Given the description of an element on the screen output the (x, y) to click on. 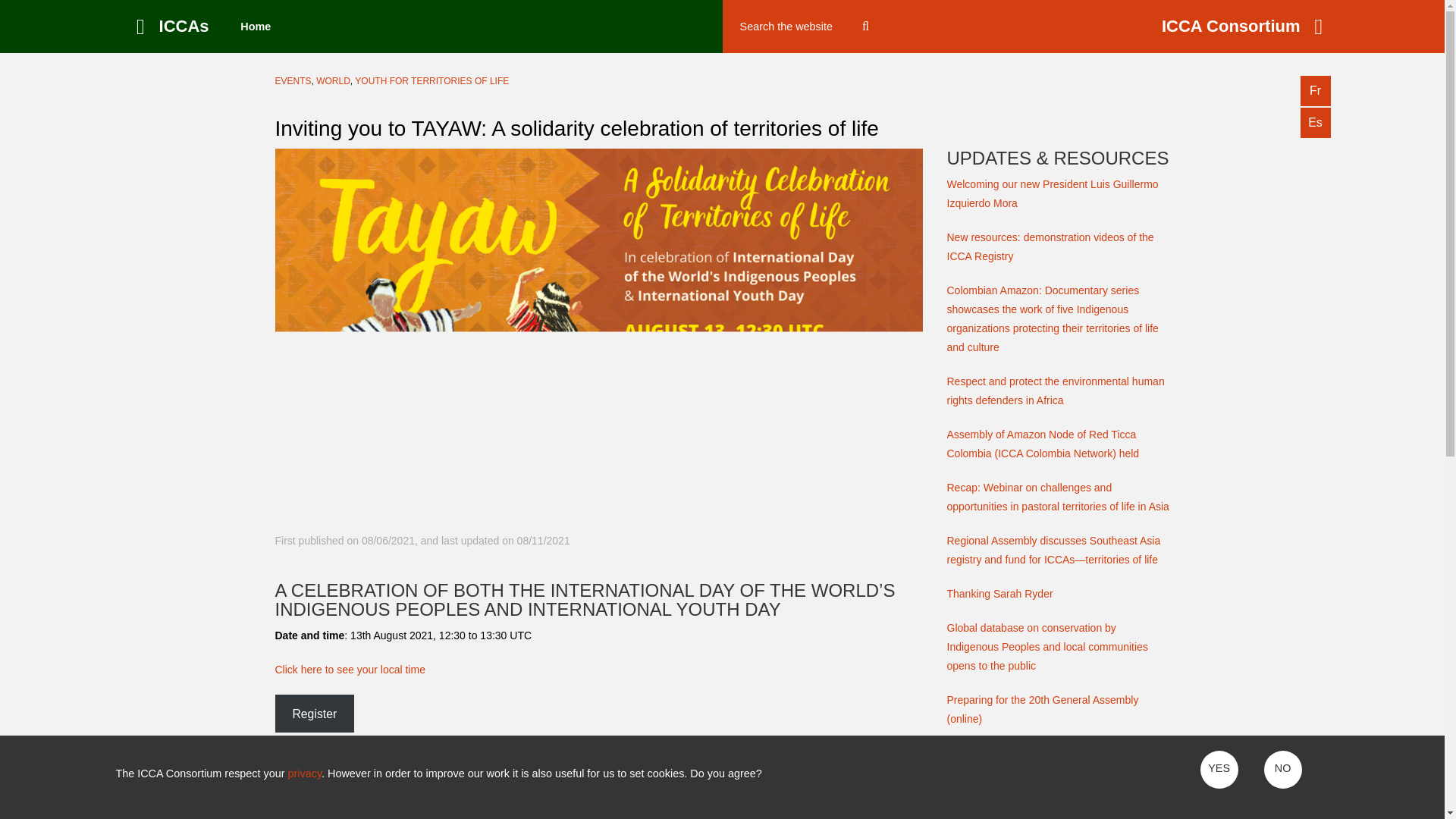
World (332, 81)
Events (293, 81)
privacy (304, 773)
Youth for territories of life (431, 81)
